Given the description of an element on the screen output the (x, y) to click on. 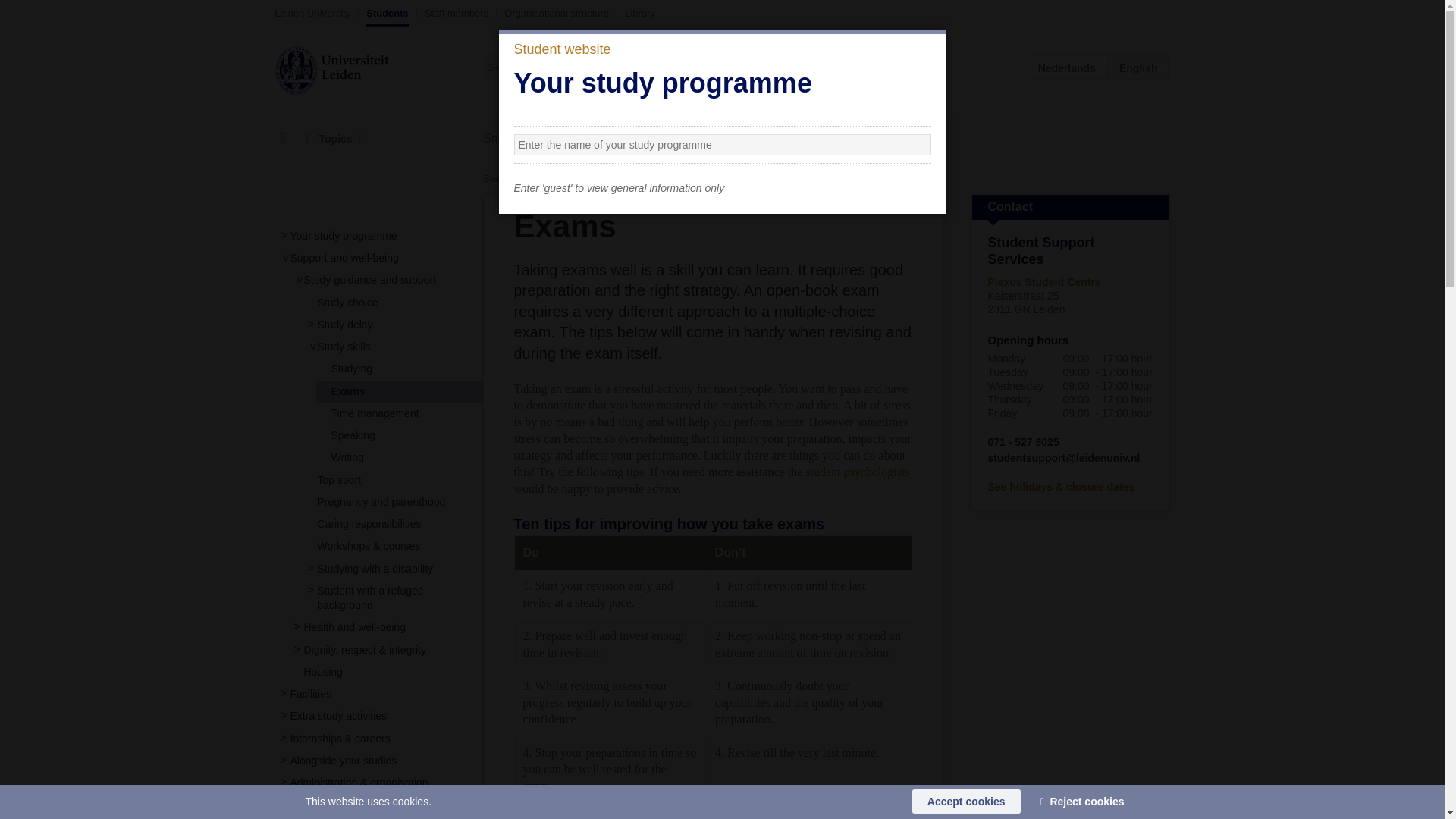
Topics (333, 139)
Organisational structure (555, 13)
Leiden University (312, 13)
Search and select a study programme (686, 139)
NL (1067, 67)
Staff members (456, 13)
Library (639, 13)
Your study programme (342, 235)
Search (919, 67)
Students (387, 17)
All (827, 67)
